Given the description of an element on the screen output the (x, y) to click on. 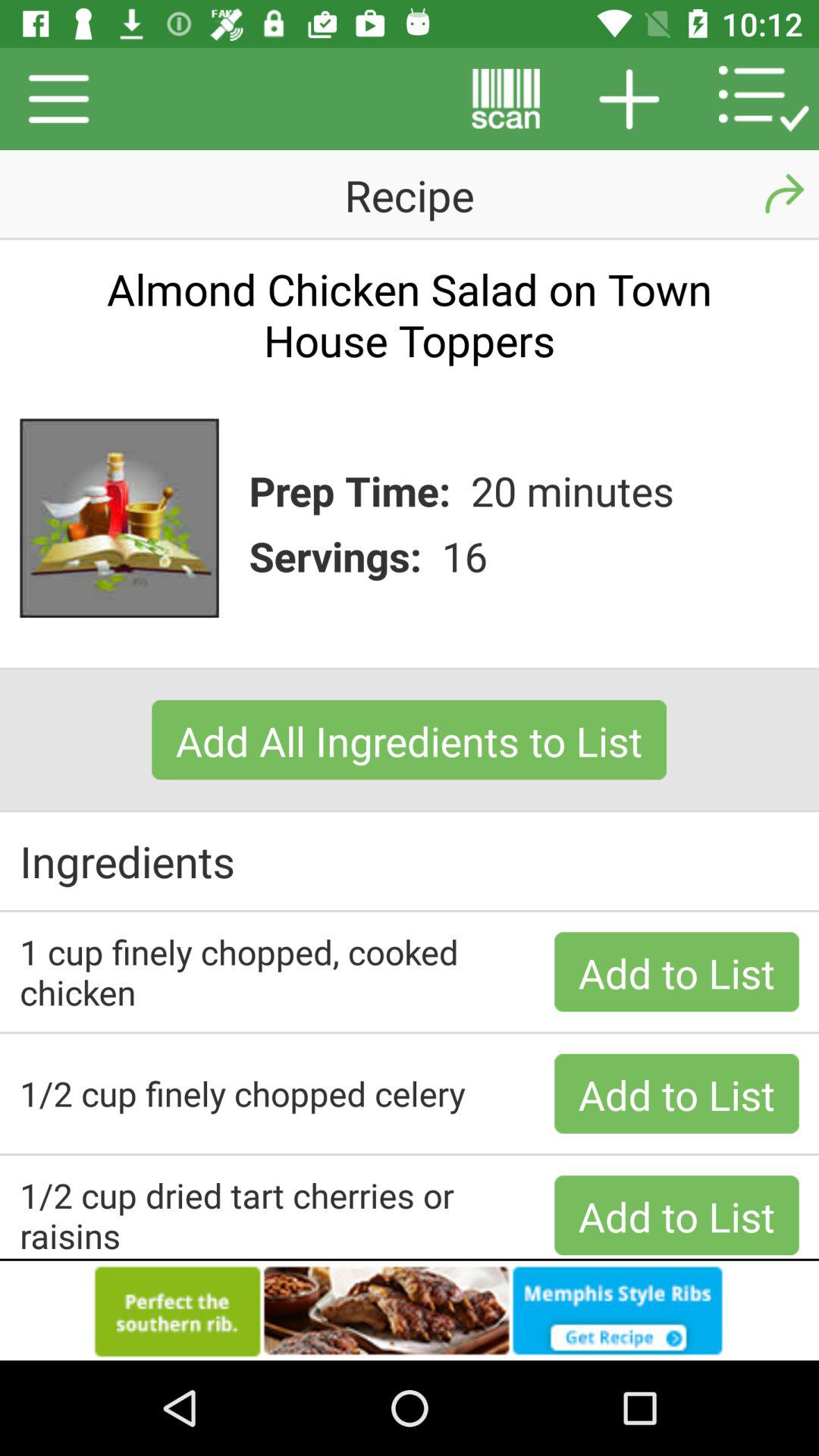
click the scan option beside  add button (505, 98)
click on the button beside scan (629, 98)
click on the green colored box placed below serving 16 (408, 739)
the icon right to  at the top right corner of the page (764, 98)
select the image beside prep time (119, 517)
click on the button beside  on left (505, 98)
